Given the description of an element on the screen output the (x, y) to click on. 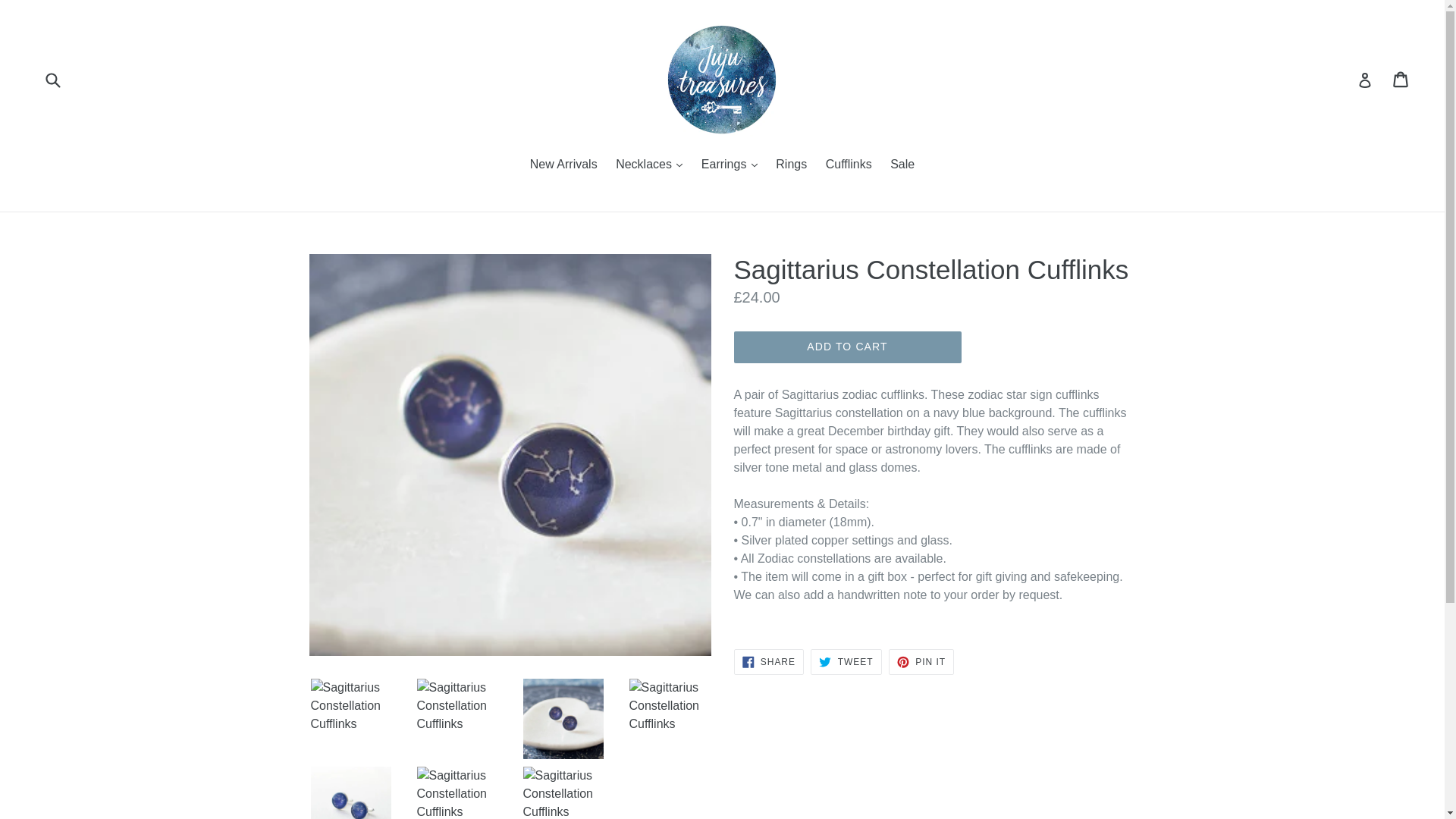
Tweet on Twitter (845, 661)
Cufflinks (848, 165)
New Arrivals (563, 165)
Rings (790, 165)
Share on Facebook (768, 661)
Pin on Pinterest (920, 661)
